Given the description of an element on the screen output the (x, y) to click on. 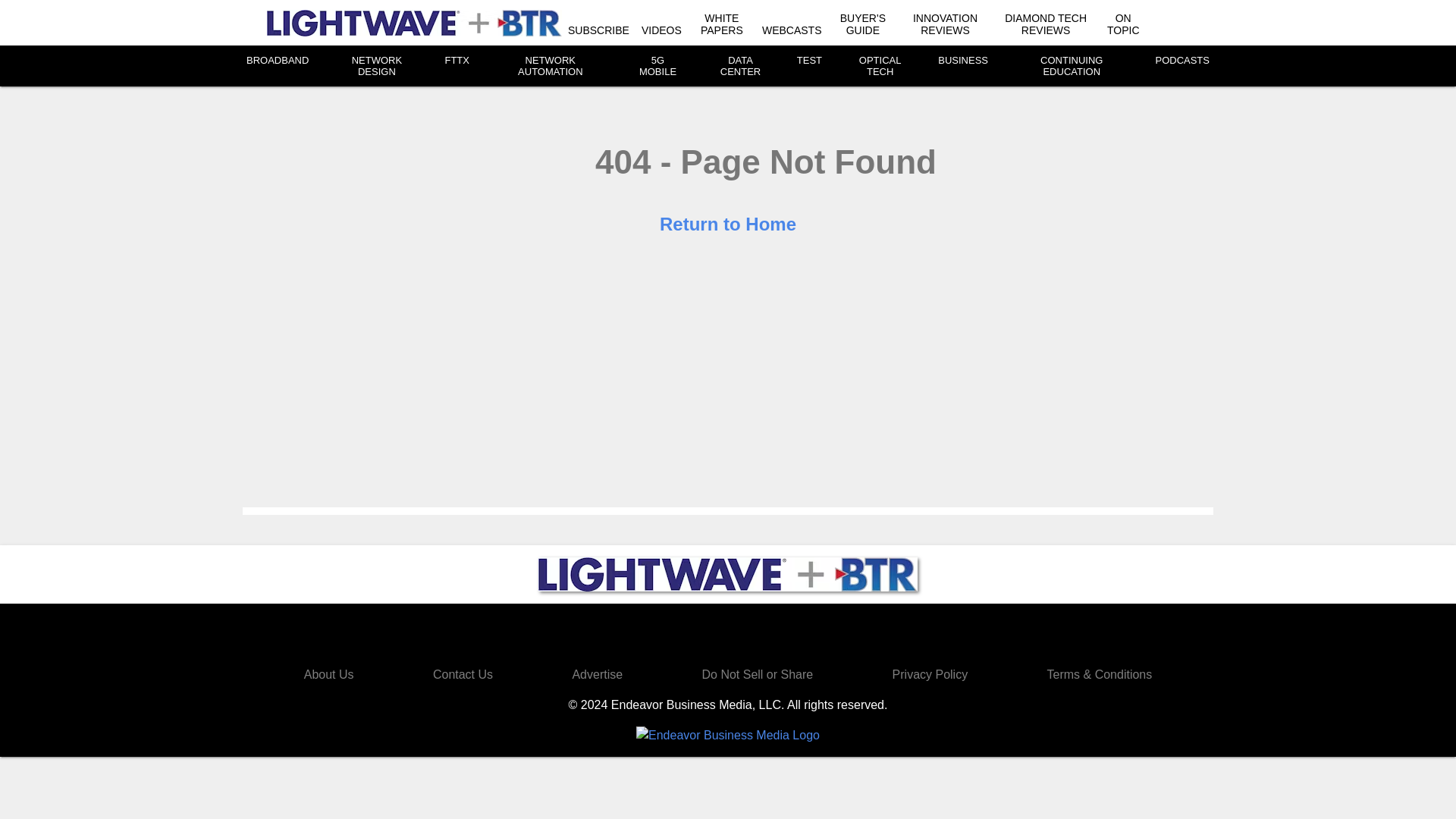
Advertise (597, 674)
BROADBAND (277, 60)
VIDEOS (661, 30)
NETWORK DESIGN (376, 65)
SUBSCRIBE (597, 30)
Contact Us (462, 674)
PODCASTS (1181, 60)
BUSINESS (962, 60)
NETWORK AUTOMATION (550, 65)
Privacy Policy (930, 674)
